Given the description of an element on the screen output the (x, y) to click on. 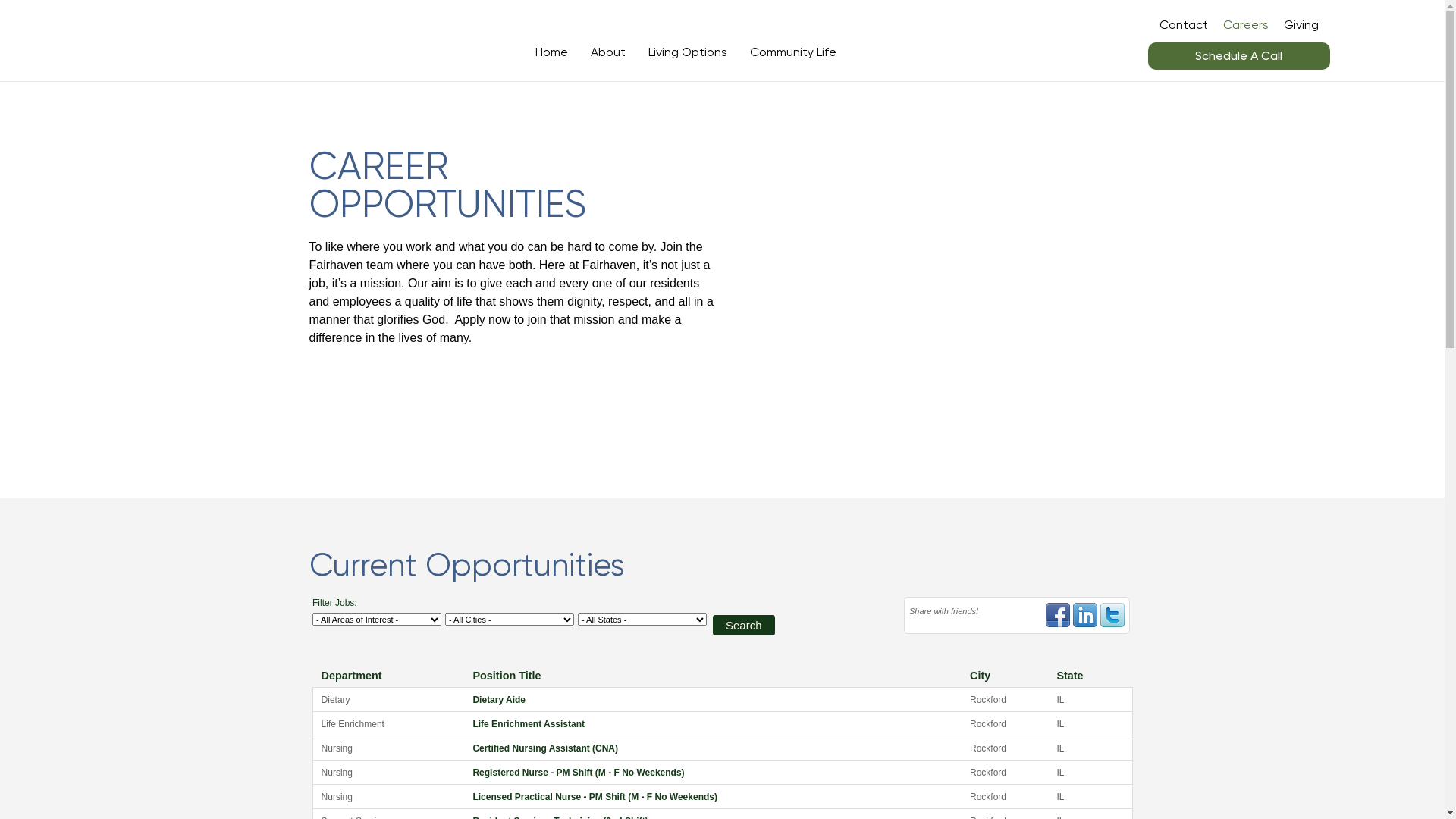
Submit Element type: text (722, 277)
Contact Element type: text (1183, 24)
Giving Element type: text (1301, 24)
Careers Element type: text (1245, 24)
Schedule A Call Element type: text (1239, 55)
Living Options Element type: text (687, 51)
About Element type: text (608, 51)
Community Life Element type: text (792, 51)
Home Element type: text (551, 51)
